Given the description of an element on the screen output the (x, y) to click on. 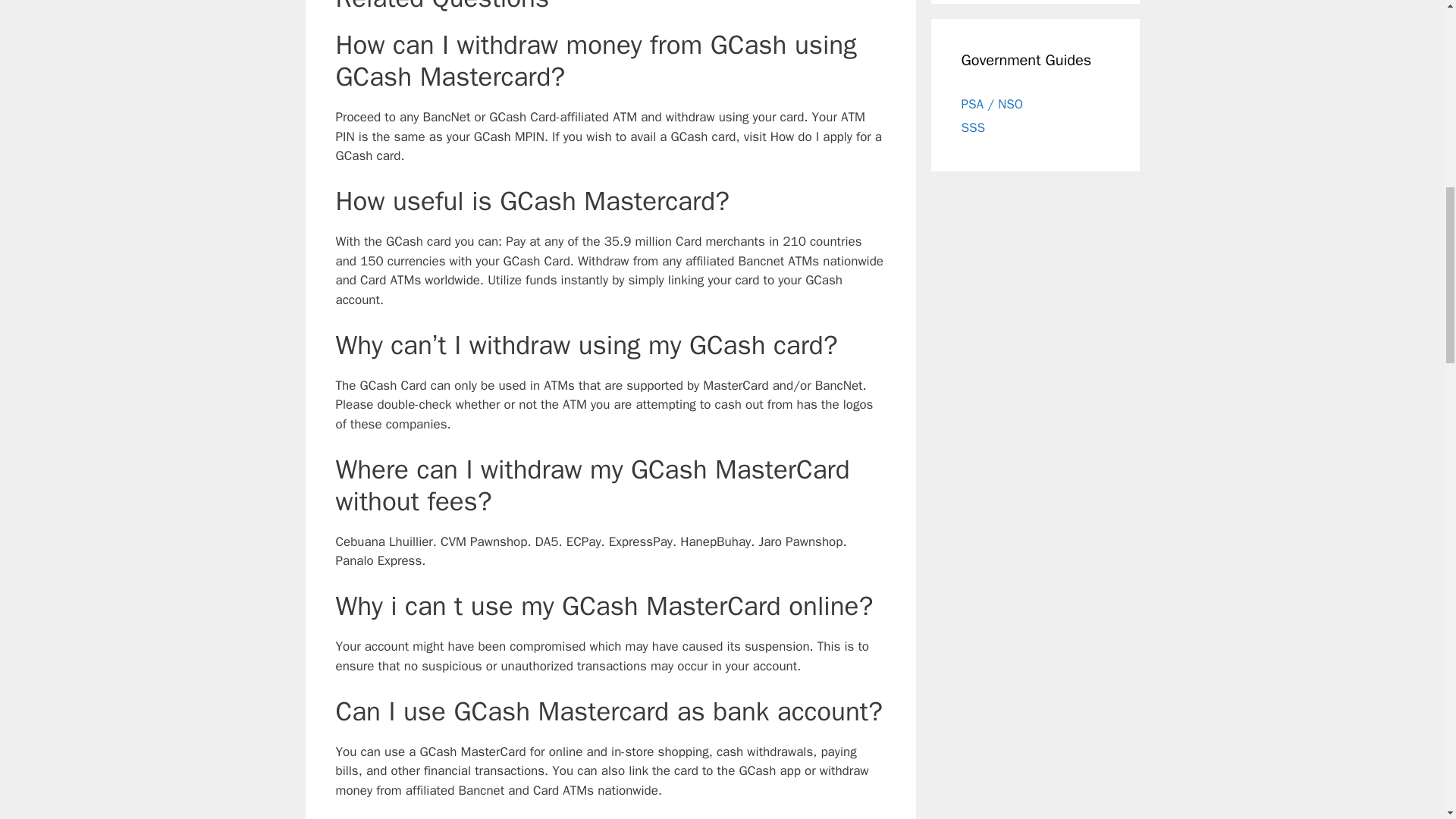
SSS (972, 127)
